Given the description of an element on the screen output the (x, y) to click on. 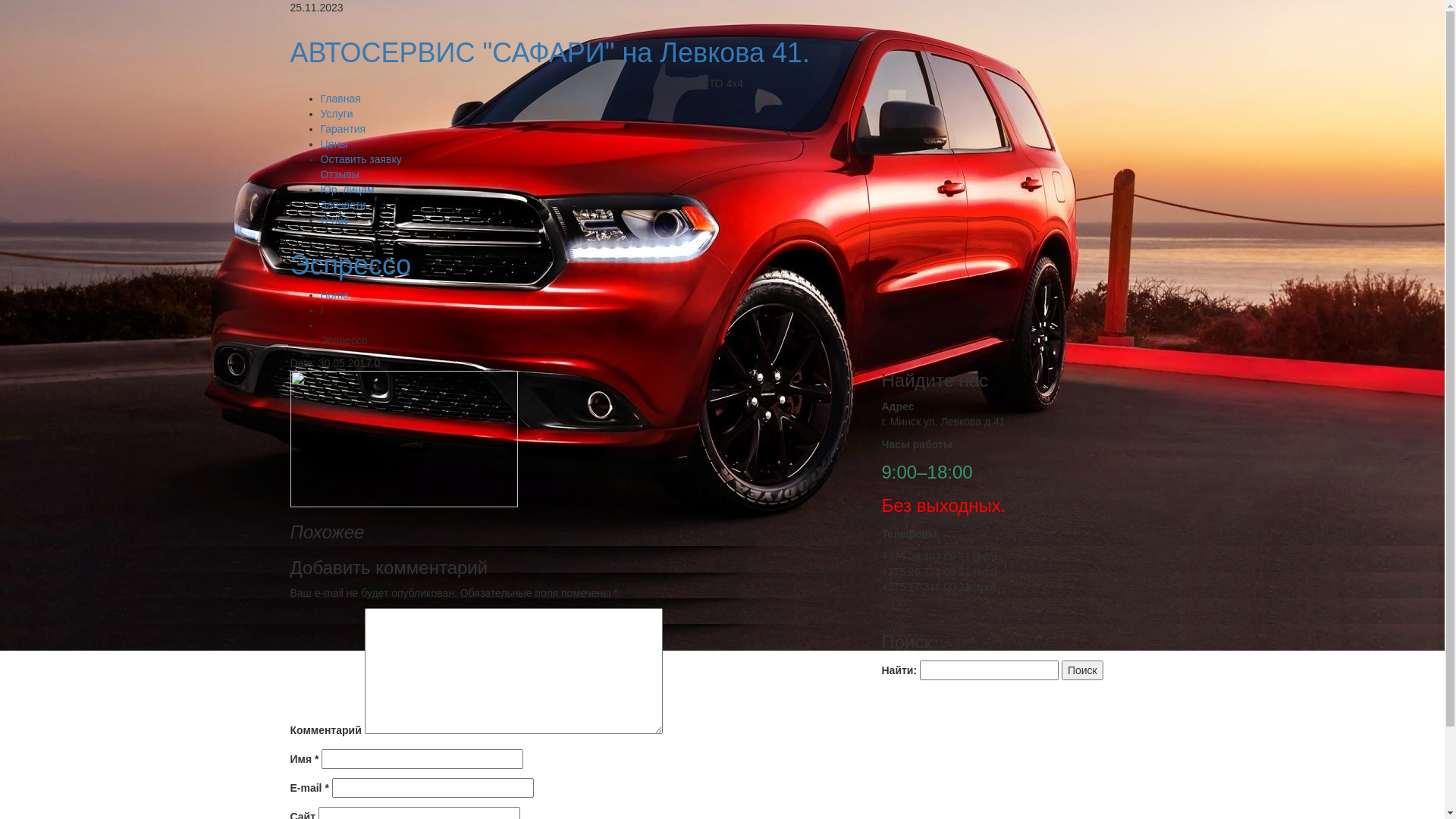
Home Element type: text (334, 294)
